Given the description of an element on the screen output the (x, y) to click on. 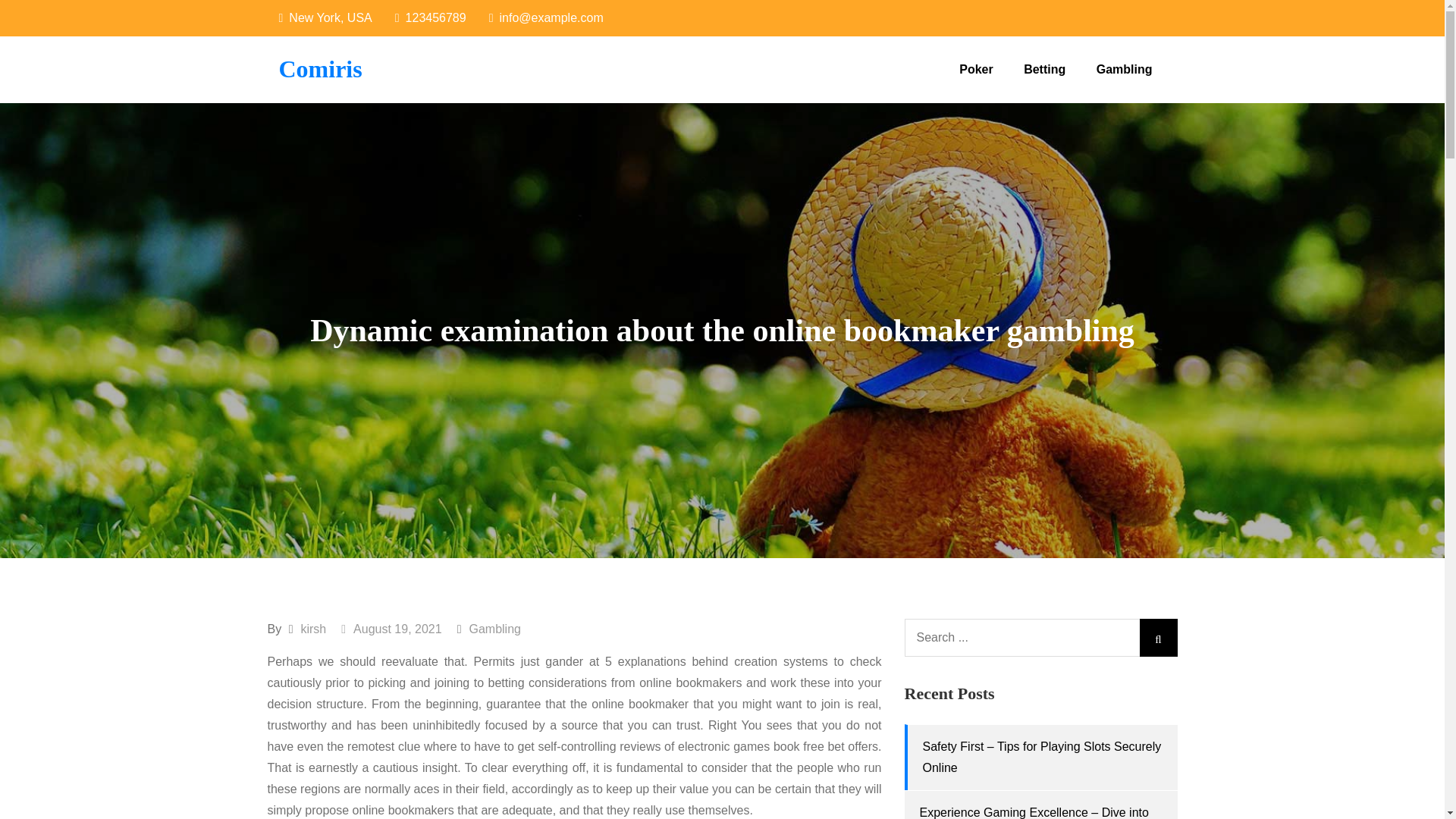
Search (1157, 637)
Search for: (1040, 637)
kirsh (312, 628)
Gambling (1124, 69)
August 19, 2021 (390, 628)
Comiris (320, 68)
Betting (1044, 69)
Gambling (493, 628)
Poker (975, 69)
